Given the description of an element on the screen output the (x, y) to click on. 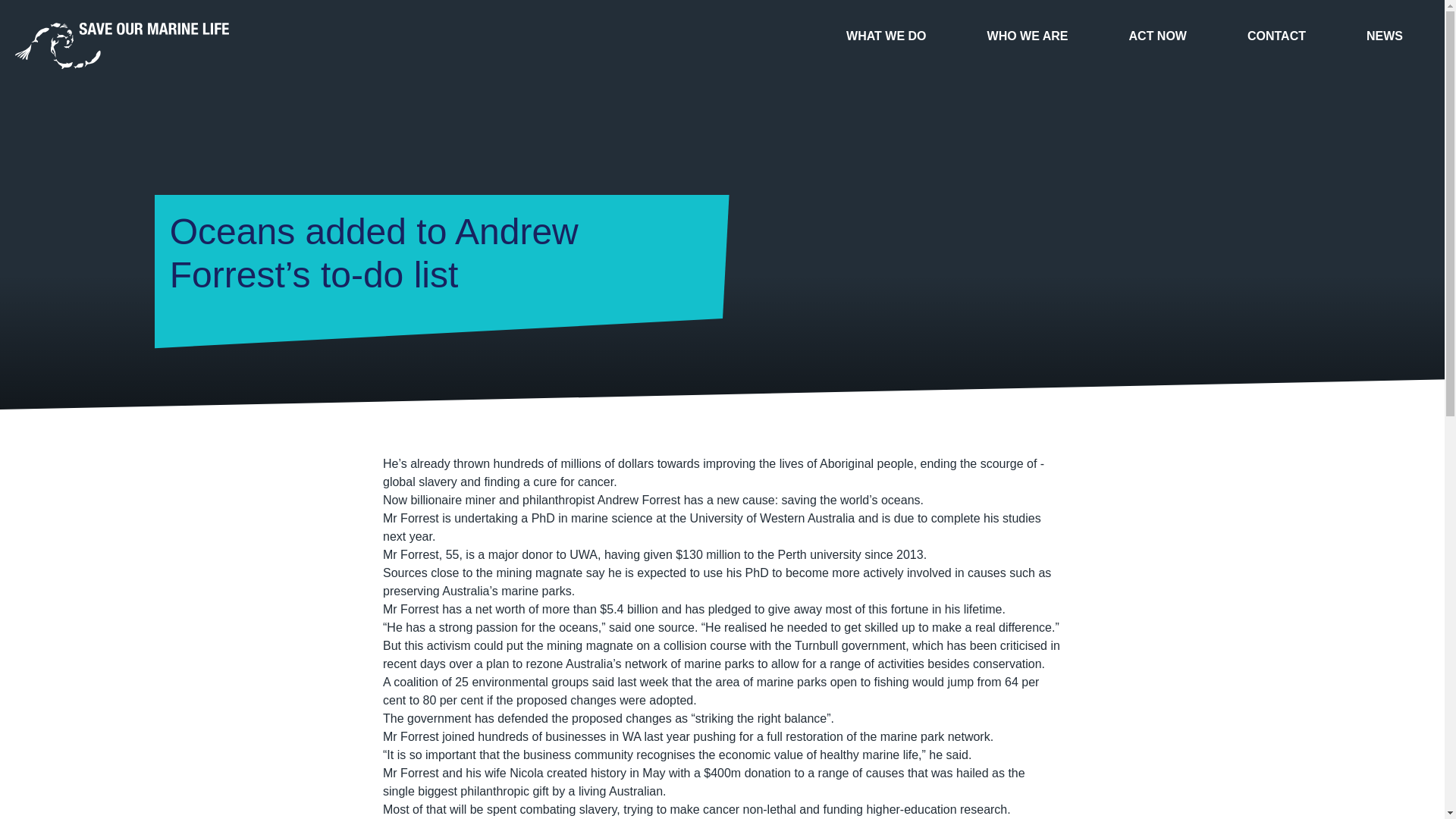
ACT NOW Element type: text (1157, 36)
CONTACT Element type: text (1276, 36)
WHAT WE DO Element type: text (885, 36)
NEWS Element type: text (1384, 36)
WHO WE ARE Element type: text (1027, 36)
